Given the description of an element on the screen output the (x, y) to click on. 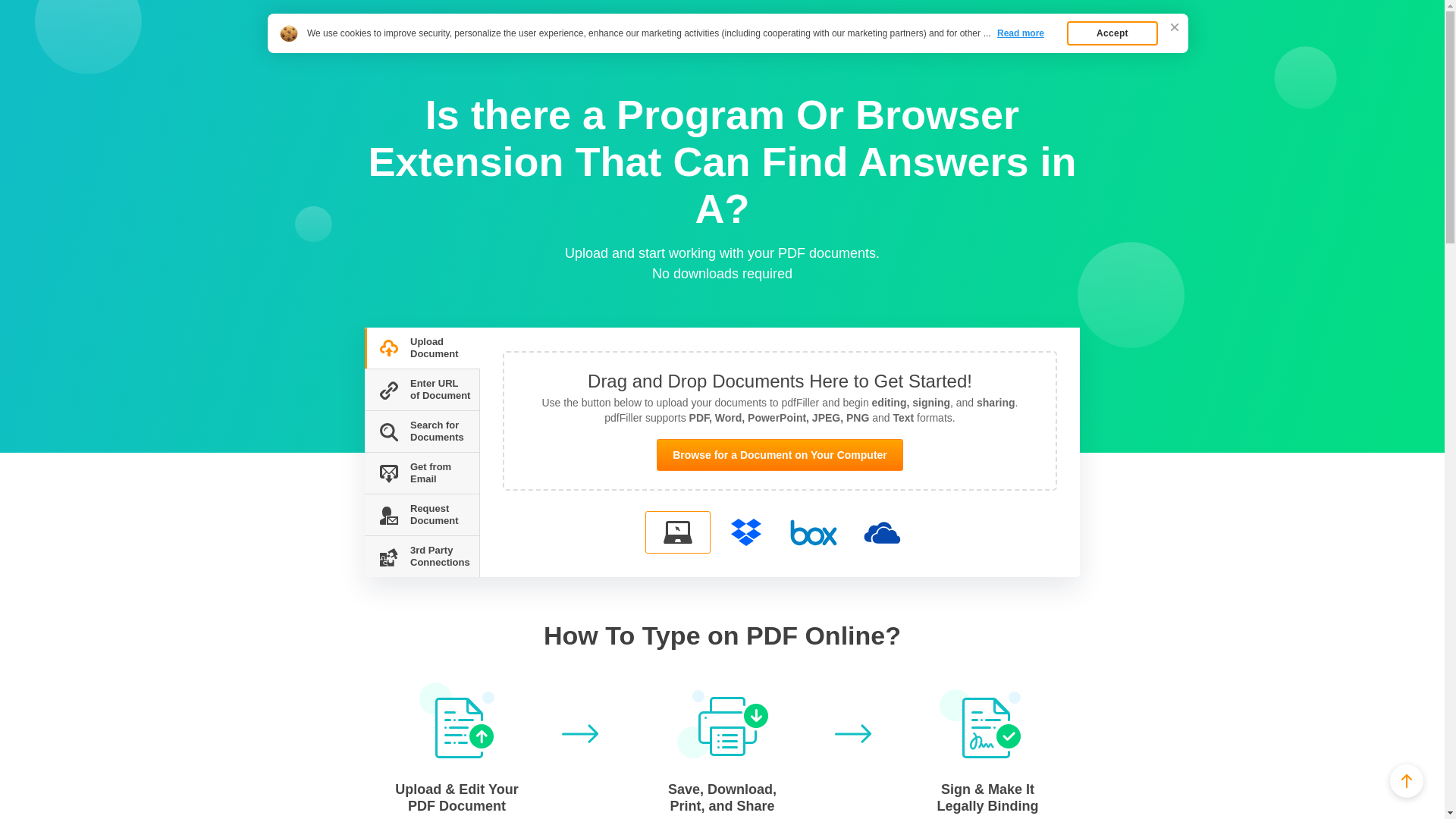
Scroll Up (1406, 780)
Home (361, 46)
Typeable PDF (391, 21)
FAQ (398, 46)
